Given the description of an element on the screen output the (x, y) to click on. 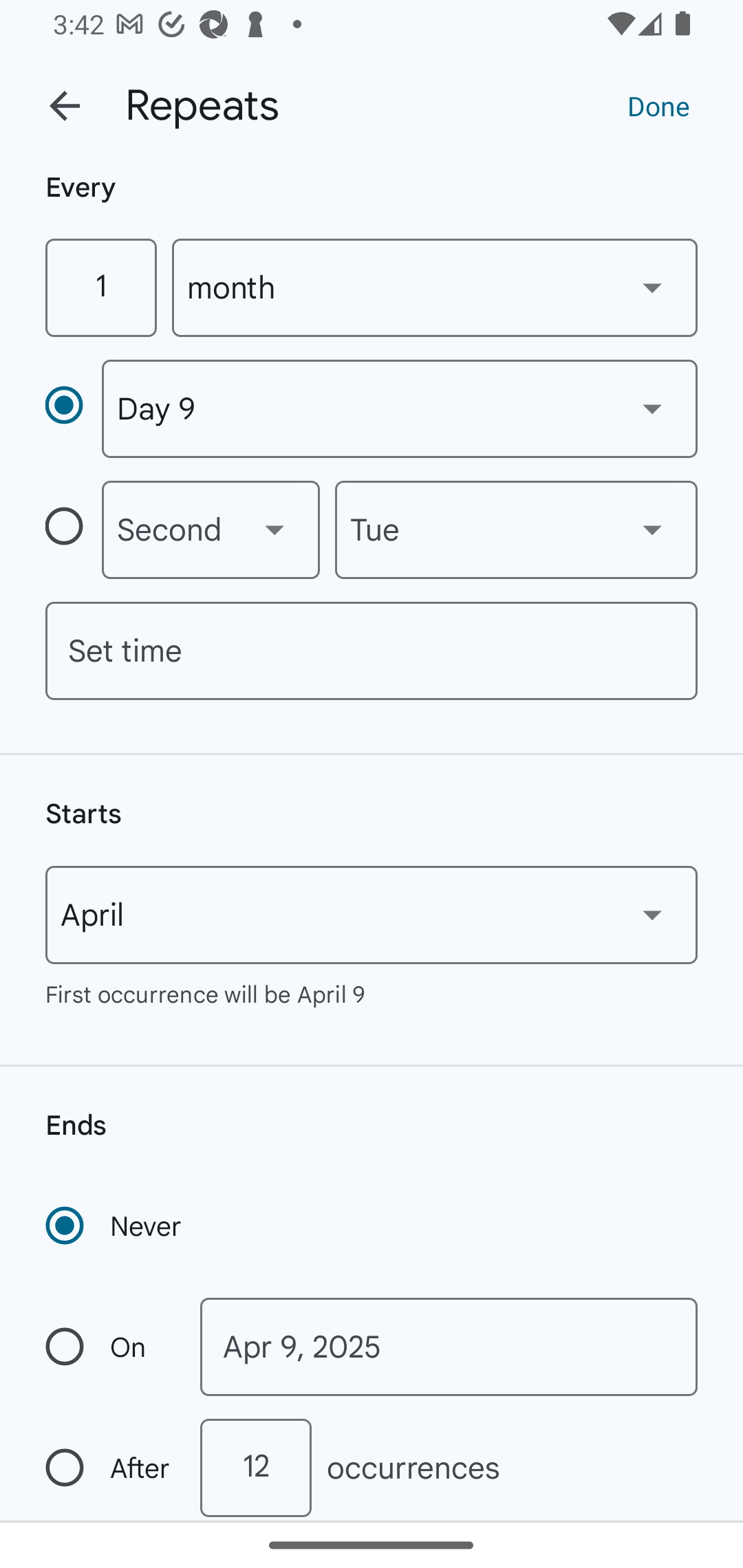
Back (64, 105)
Done (658, 105)
1 (100, 287)
month (434, 287)
Show dropdown menu (652, 286)
Day 9 (399, 408)
Show dropdown menu (652, 408)
Repeat monthly on a specific day of the month (73, 408)
Second (210, 529)
Tue (516, 529)
Show dropdown menu (274, 529)
Show dropdown menu (652, 529)
Repeat monthly on a specific weekday (73, 529)
Set time (371, 650)
April (371, 914)
Show dropdown menu (652, 913)
Never Recurrence never ends (115, 1225)
Apr 9, 2025 (448, 1346)
On Recurrence ends on a specific date (109, 1346)
12 (255, 1468)
